Given the description of an element on the screen output the (x, y) to click on. 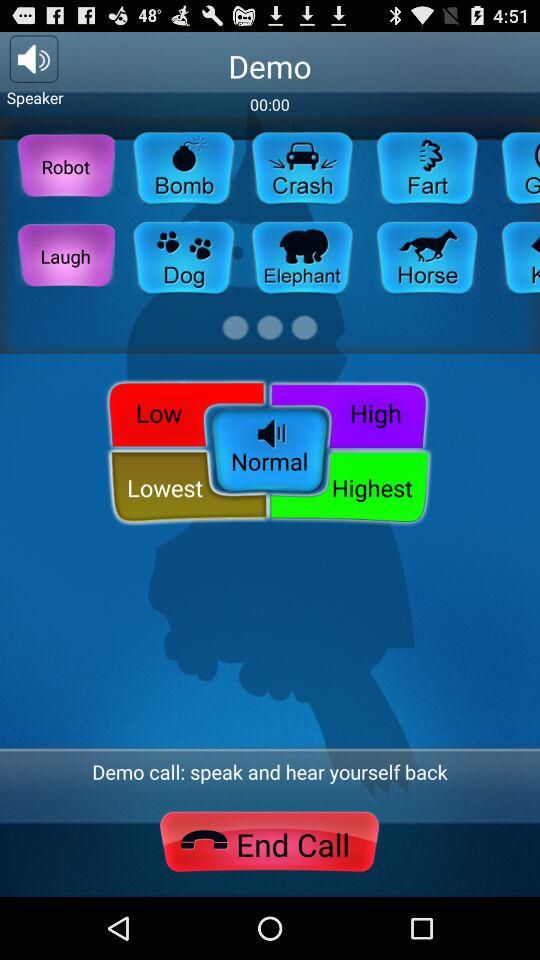
tap icon above low button (65, 256)
